Given the description of an element on the screen output the (x, y) to click on. 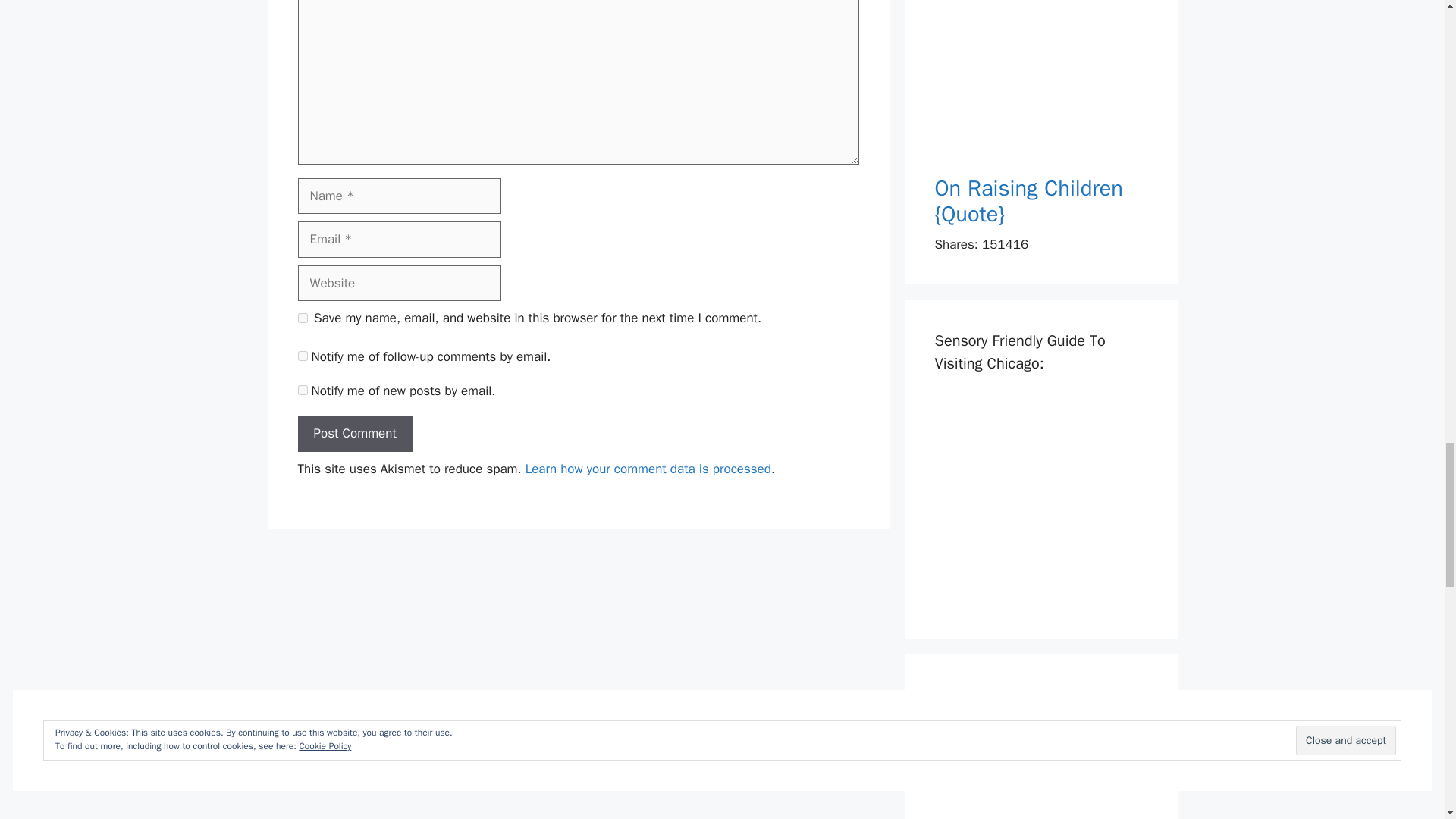
subscribe (302, 356)
subscribe (302, 389)
Post Comment (354, 433)
yes (302, 317)
